Given the description of an element on the screen output the (x, y) to click on. 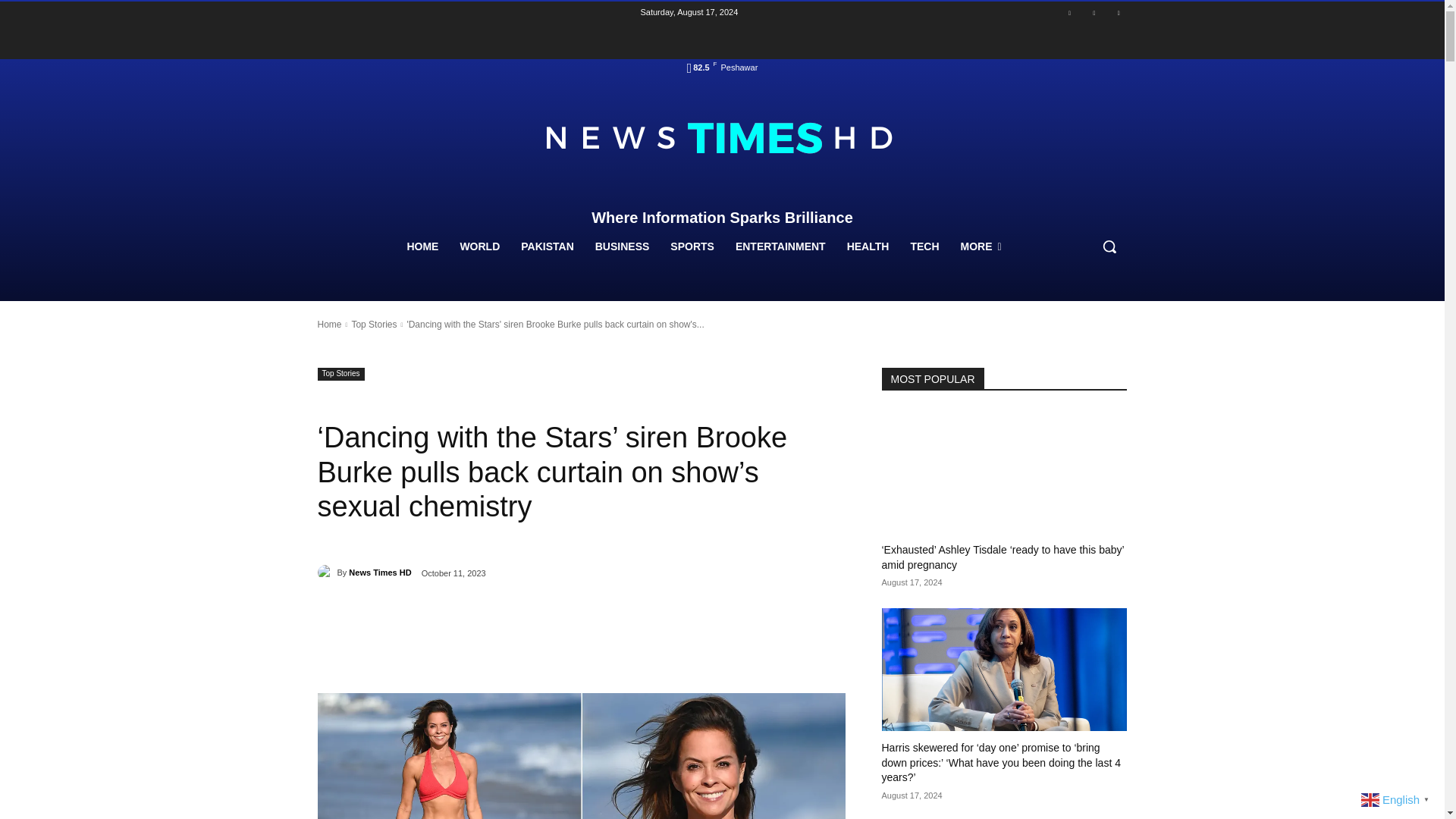
HOME (422, 246)
ENTERTAINMENT (780, 246)
TECH (924, 246)
News Times HD (326, 572)
Facebook (1069, 13)
PAKISTAN (547, 246)
Twitter (1117, 13)
Instagram (1094, 13)
HEALTH (867, 246)
SPORTS (692, 246)
